Given the description of an element on the screen output the (x, y) to click on. 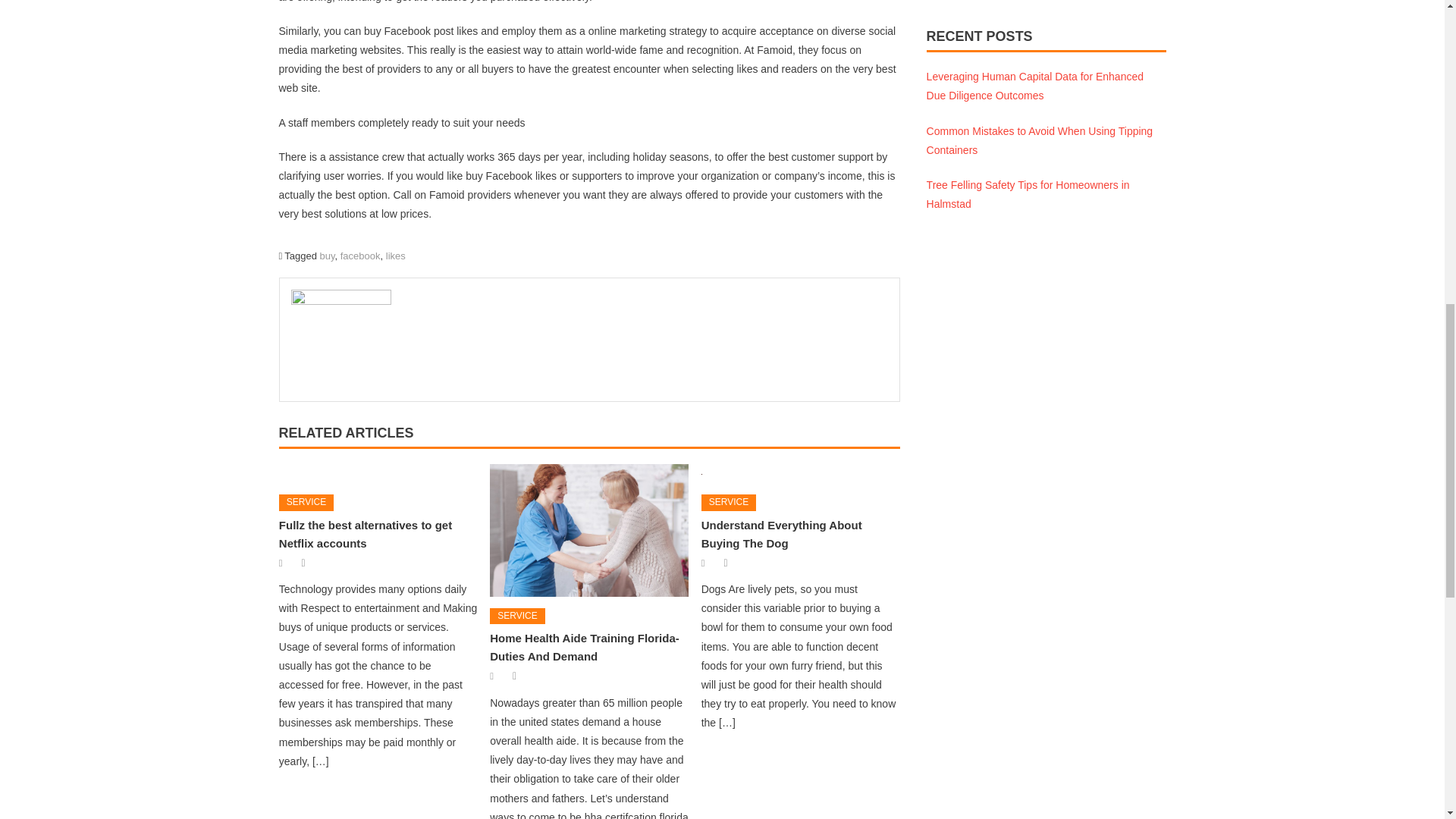
SERVICE (306, 502)
Home Health Aide Training Florida- Duties And Demand (588, 530)
facebook (360, 255)
likes (395, 255)
Home Health Aide Training Florida- Duties And Demand (583, 646)
Fullz the best alternatives to get Netflix accounts (365, 533)
buy (327, 255)
SERVICE (516, 616)
Fullz the best alternatives to get Netflix accounts (378, 473)
Understand Everything About Buying The Dog (800, 473)
